Given the description of an element on the screen output the (x, y) to click on. 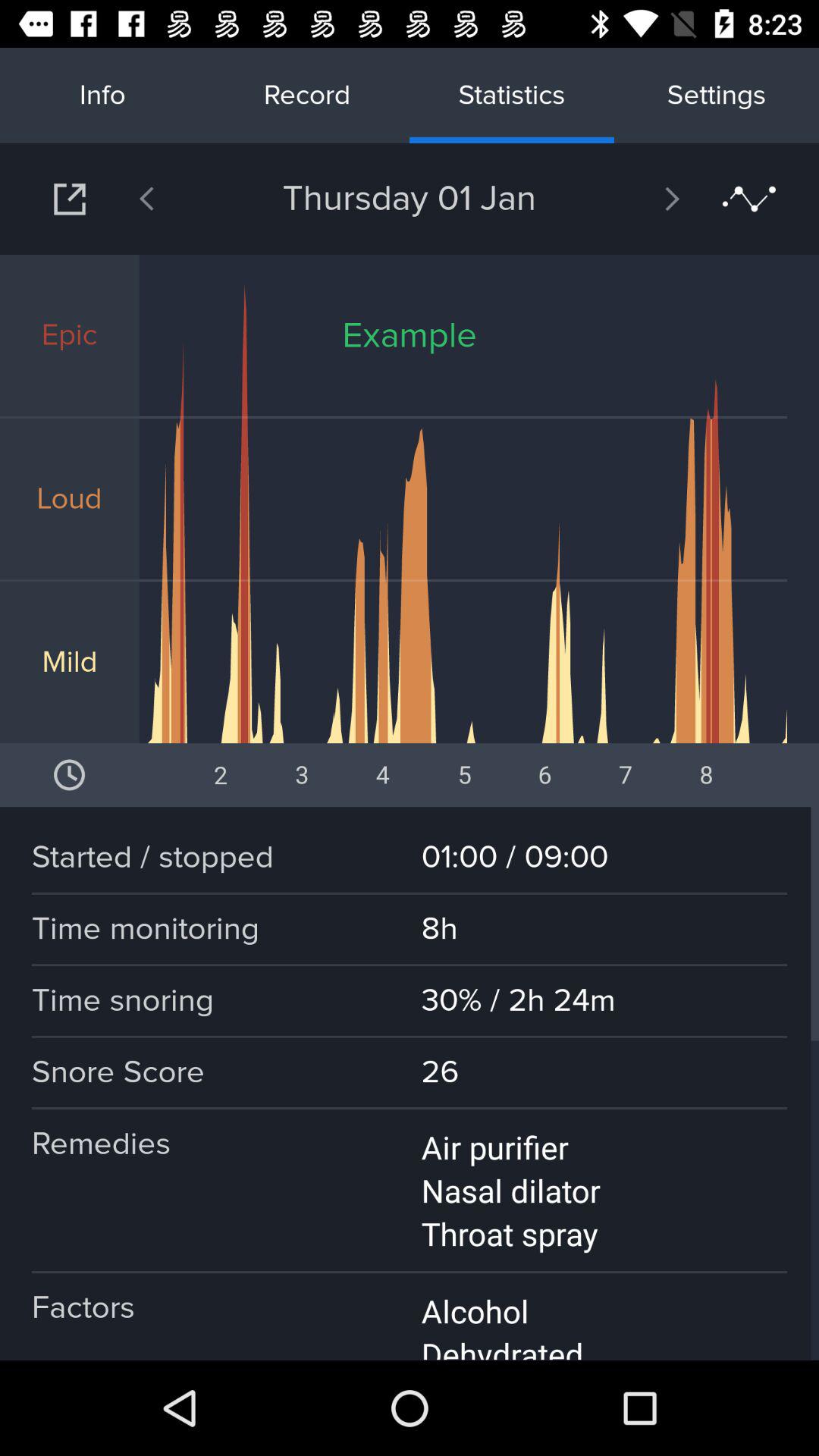
tap the icon below the info icon (69, 198)
